Given the description of an element on the screen output the (x, y) to click on. 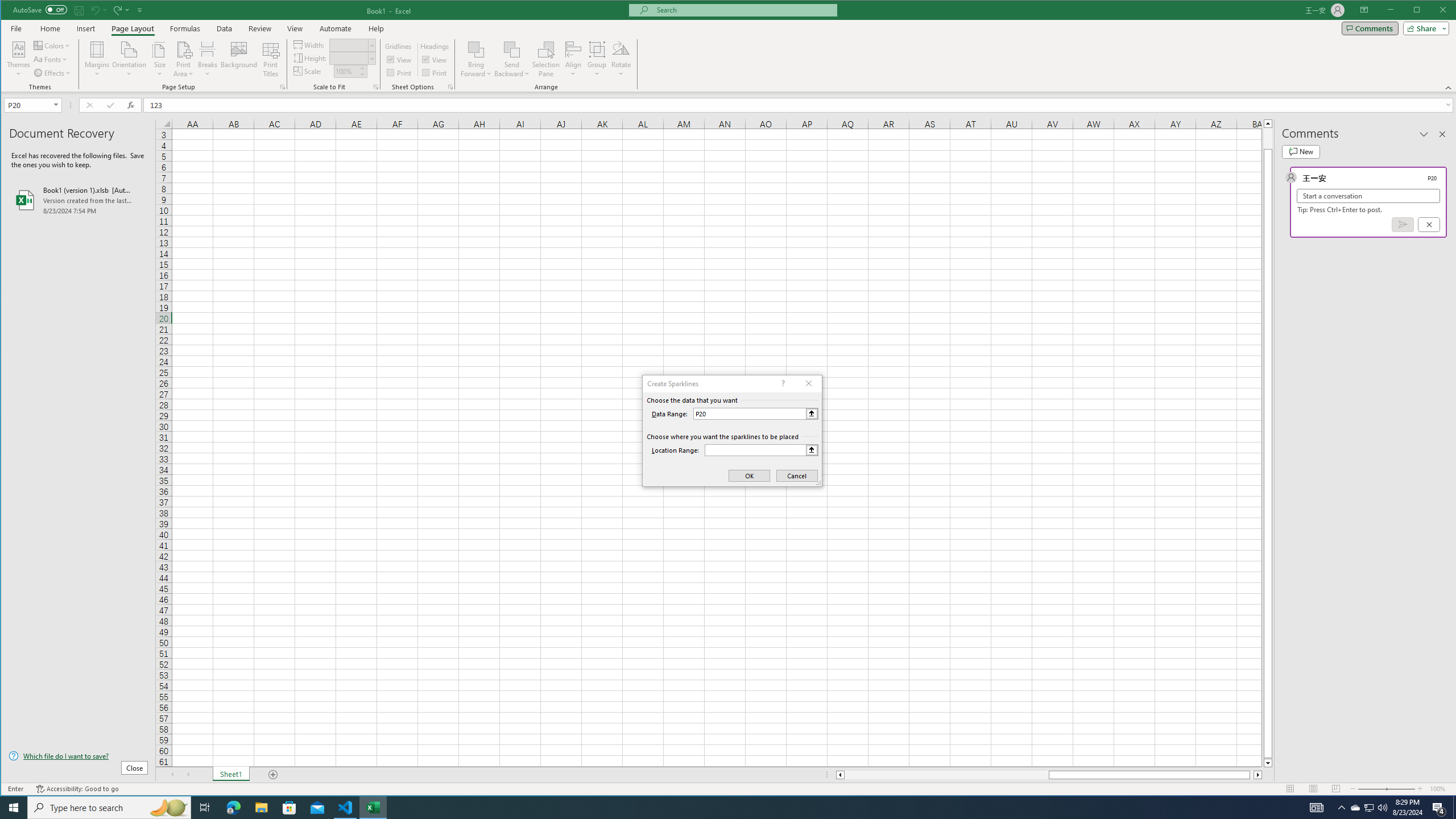
Effects (53, 72)
Maximize (1432, 11)
Margins (96, 59)
Start a conversation (1368, 195)
Print Area (183, 59)
Cancel (1428, 224)
Align (573, 59)
